Given the description of an element on the screen output the (x, y) to click on. 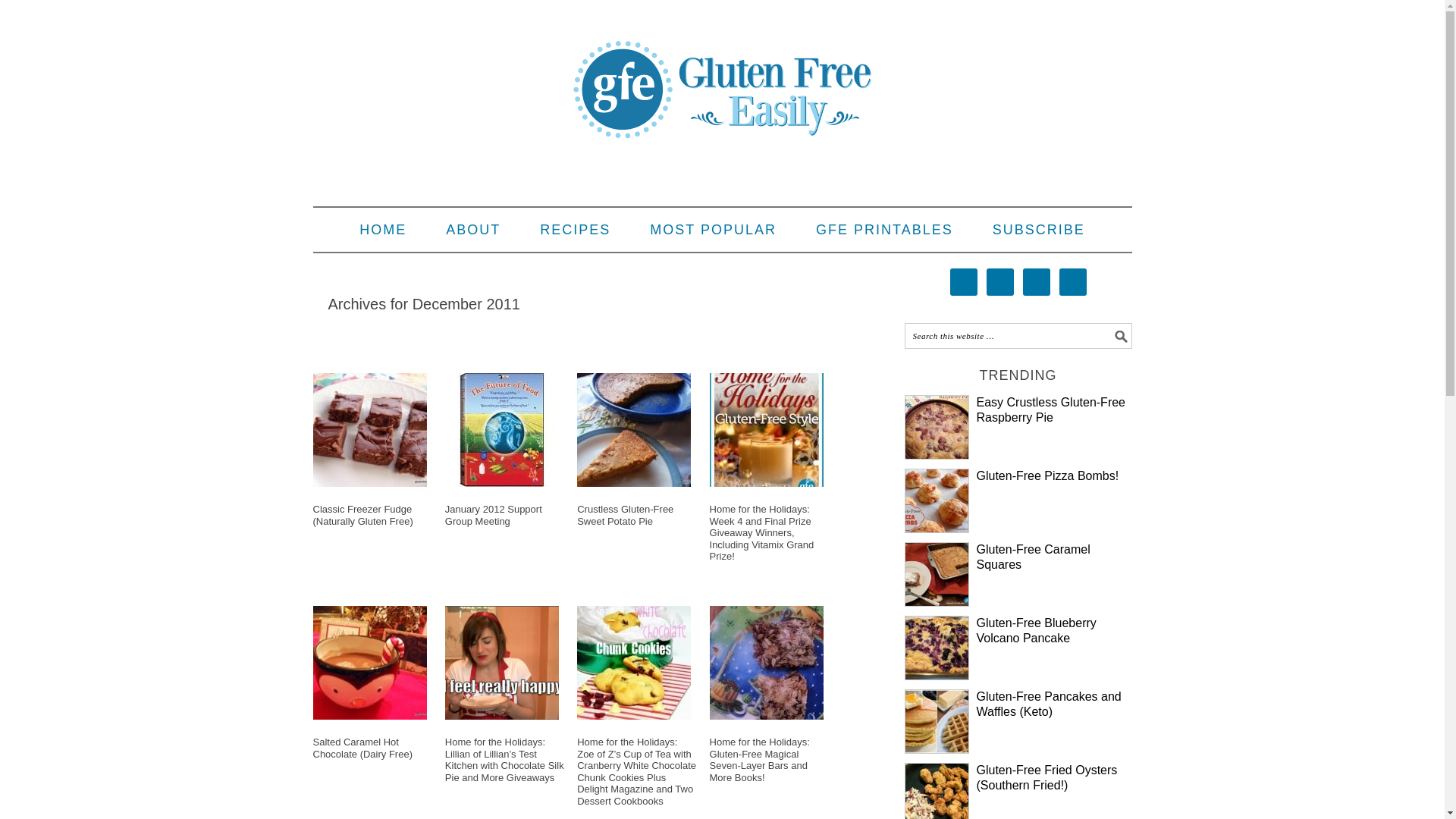
January 2012 Support Group Meeting (493, 515)
Go Gluten Free (884, 229)
MOST POPULAR (712, 229)
HOME (382, 229)
GFE--GLUTEN FREE EASILY (722, 77)
ABOUT (472, 229)
SUBSCRIBE (1038, 229)
RECIPES (574, 229)
